Given the description of an element on the screen output the (x, y) to click on. 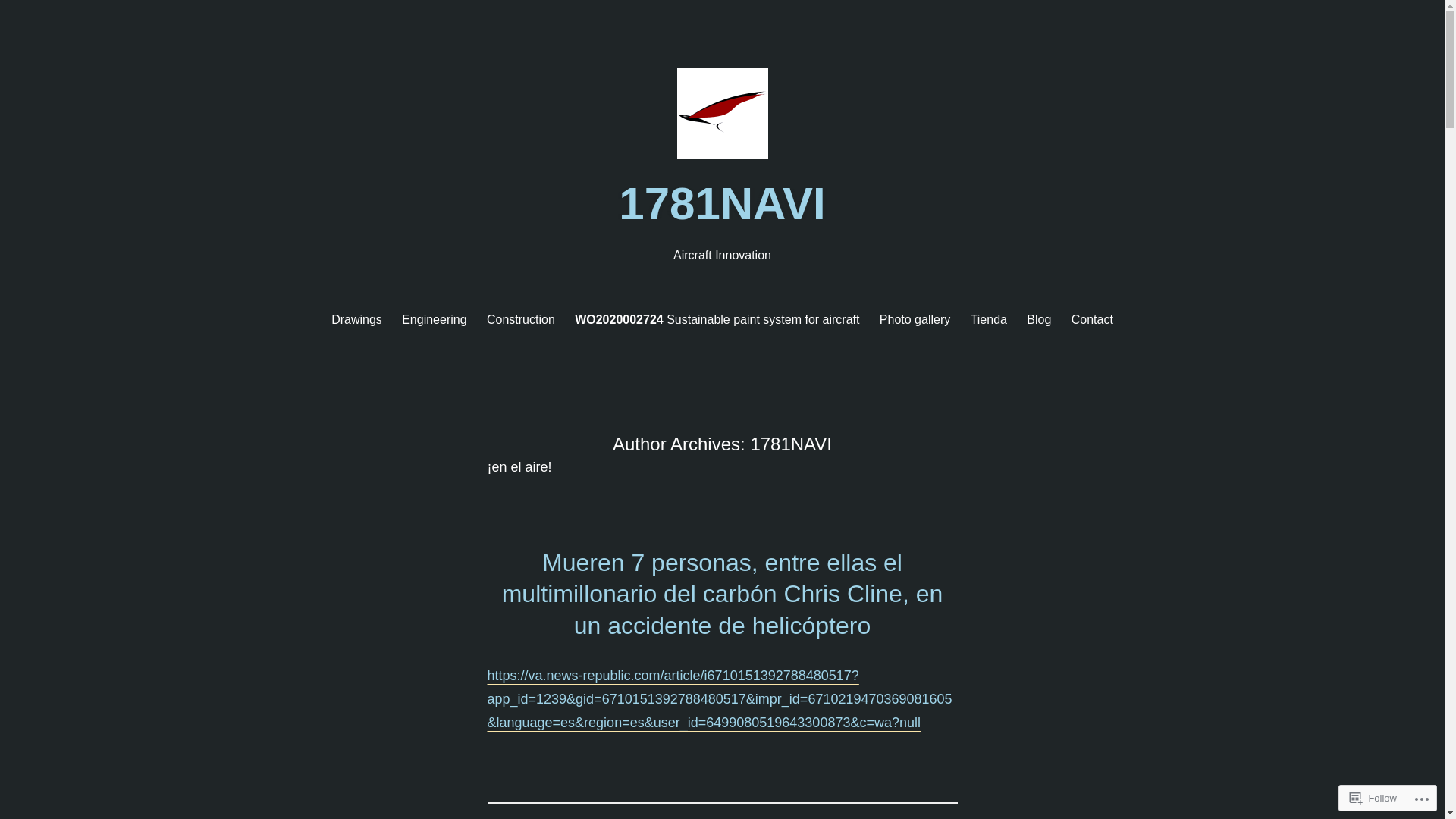
WO2020002724 Sustainable paint system for aircraft Element type: text (716, 319)
Drawings Element type: text (356, 319)
Construction Element type: text (520, 319)
1781NAVI Element type: text (721, 203)
Photo gallery Element type: text (914, 319)
Tienda Element type: text (988, 319)
Blog Element type: text (1038, 319)
Contact Element type: text (1092, 319)
Follow Element type: text (1372, 797)
Engineering Element type: text (433, 319)
